Given the description of an element on the screen output the (x, y) to click on. 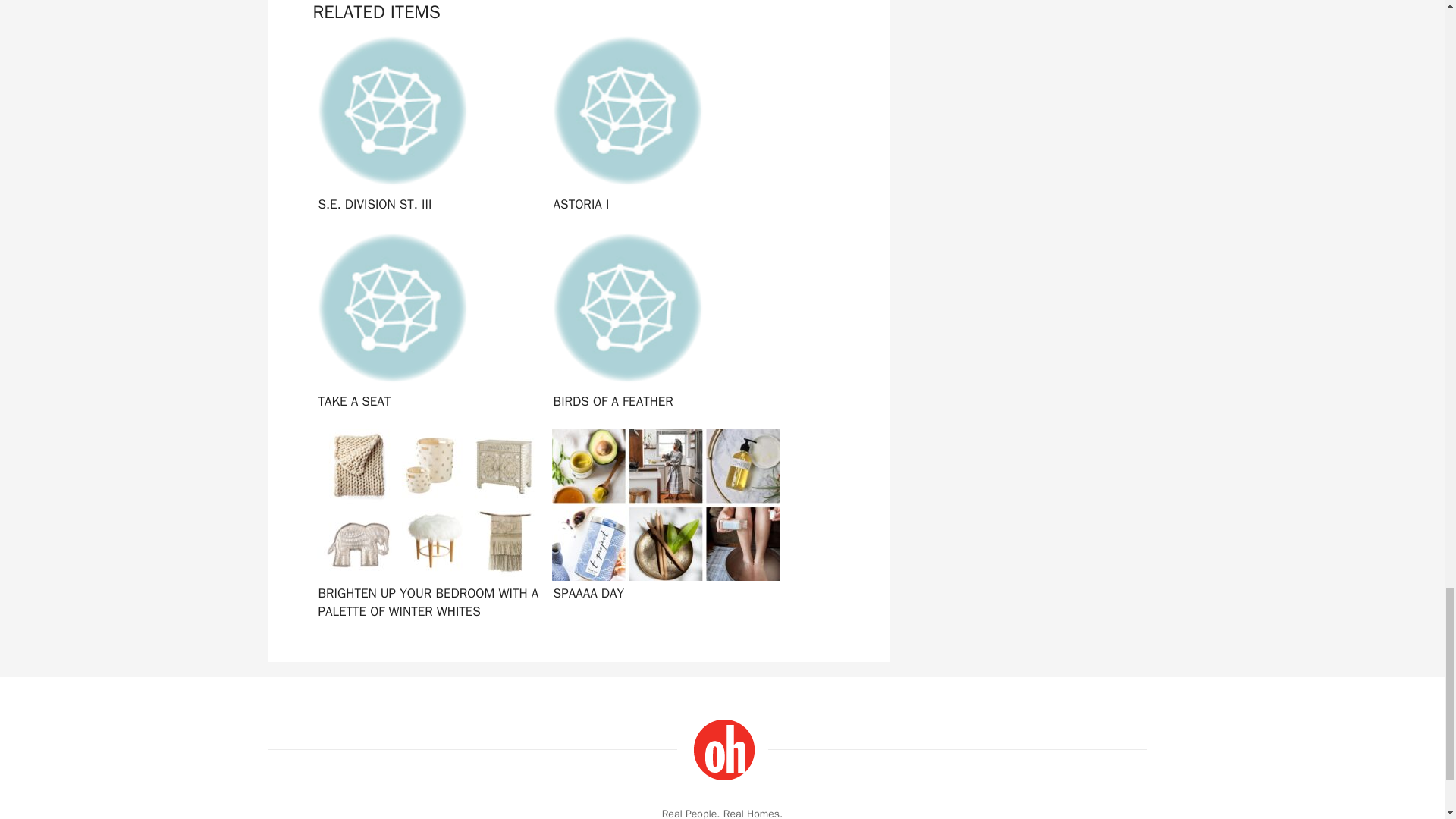
S.E. DIVISION ST. III (426, 125)
Take a seat (426, 322)
BIRDS OF A FEATHER (662, 322)
S.E. DIVISION ST. III (426, 125)
ASTORIA I (662, 125)
Spaaaa Day (662, 520)
Astoria I (662, 125)
SPAAAA DAY (662, 520)
TAKE A SEAT (426, 322)
Birds of a feather (662, 322)
Brighten up your bedroom with a Palette of Winter Whites (426, 520)
BRIGHTEN UP YOUR BEDROOM WITH A PALETTE OF WINTER WHITES (426, 520)
